Given the description of an element on the screen output the (x, y) to click on. 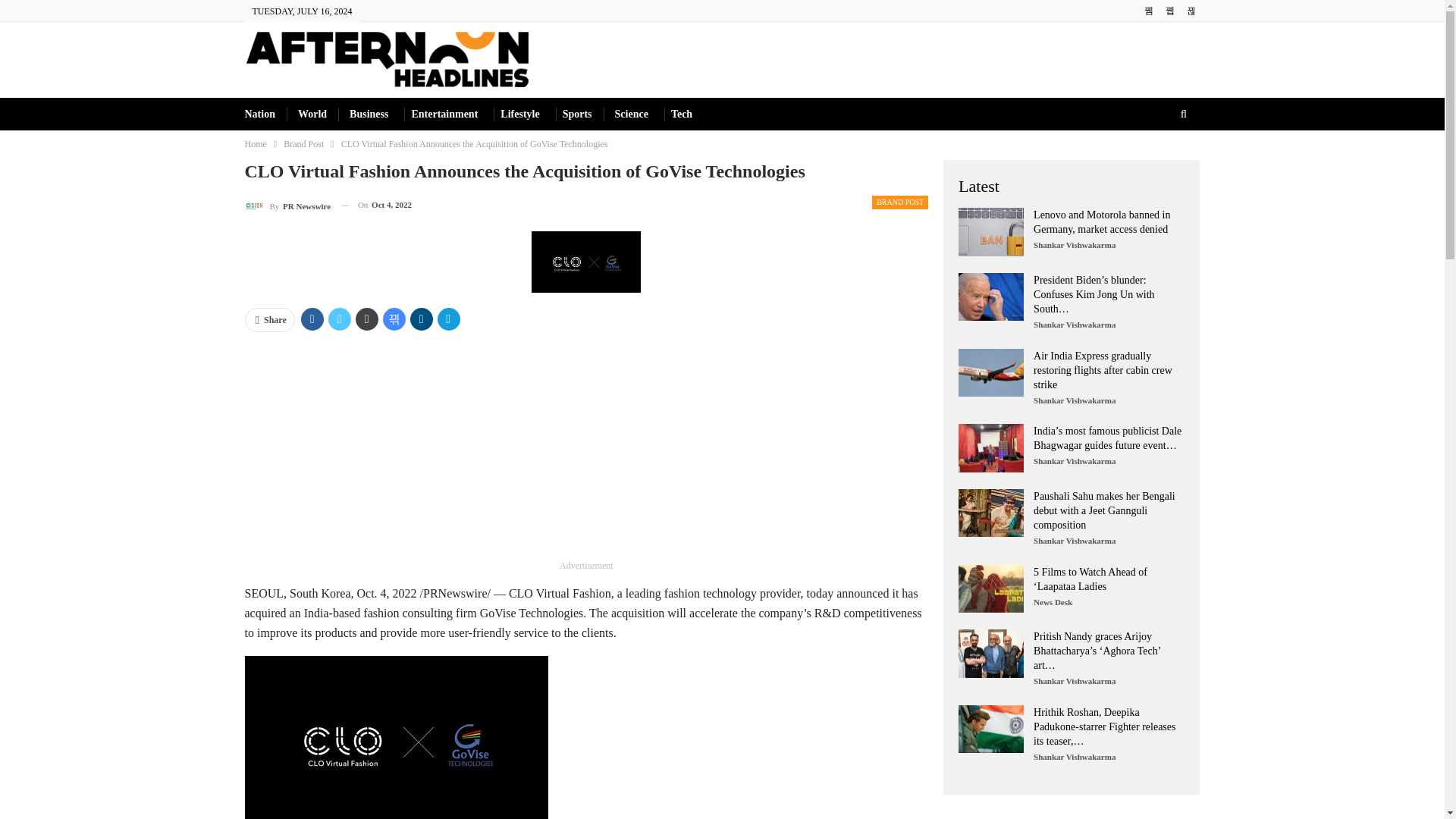
Science (630, 113)
Browse Author Articles (287, 204)
Entertainment (443, 113)
Nation (259, 113)
Business (368, 113)
Lifestyle (519, 113)
Sports (577, 113)
